Given the description of an element on the screen output the (x, y) to click on. 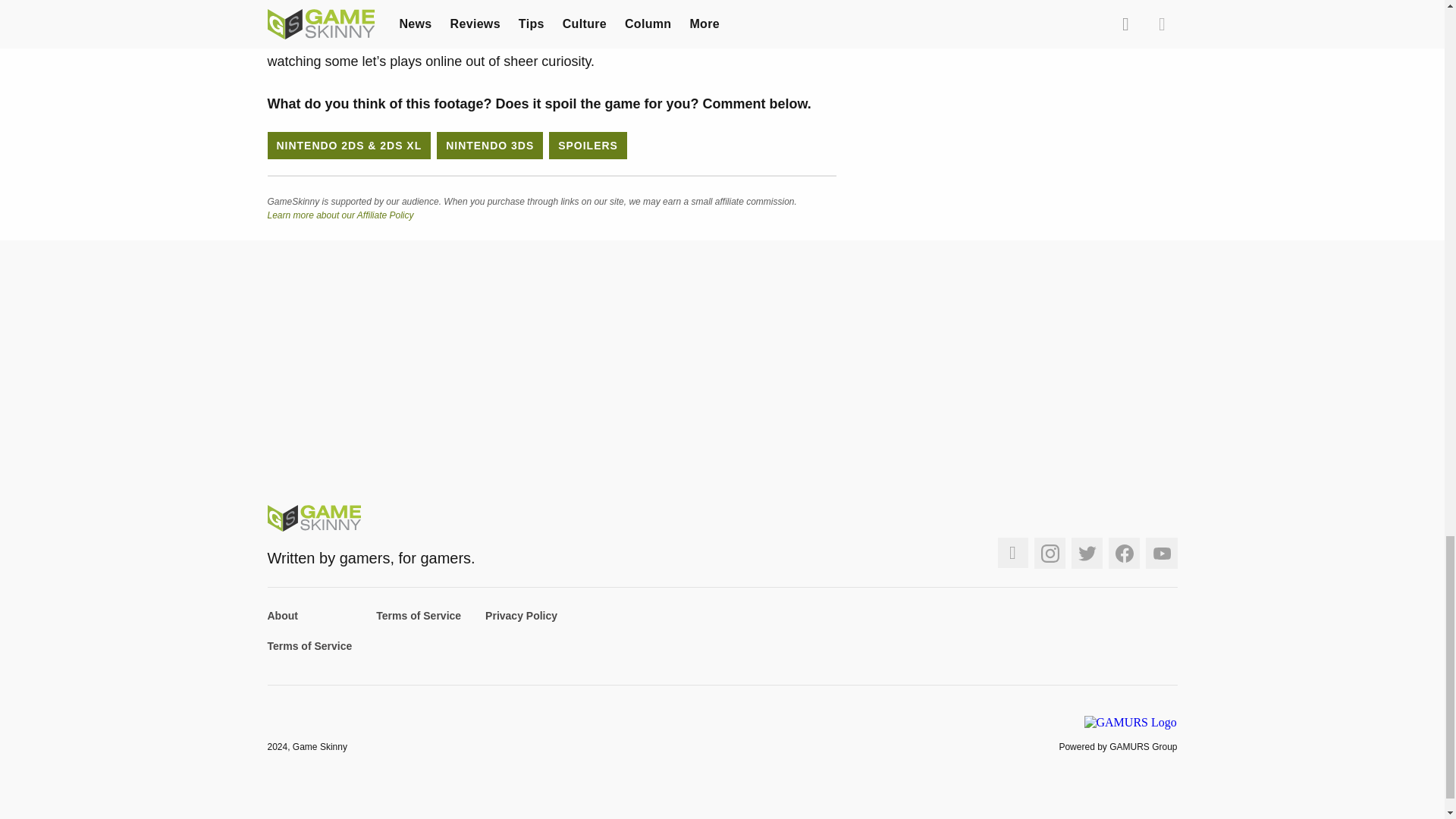
NINTENDO 3DS (489, 144)
Learn more about our Affiliate Policy (339, 214)
SPOILERS (587, 144)
